Given the description of an element on the screen output the (x, y) to click on. 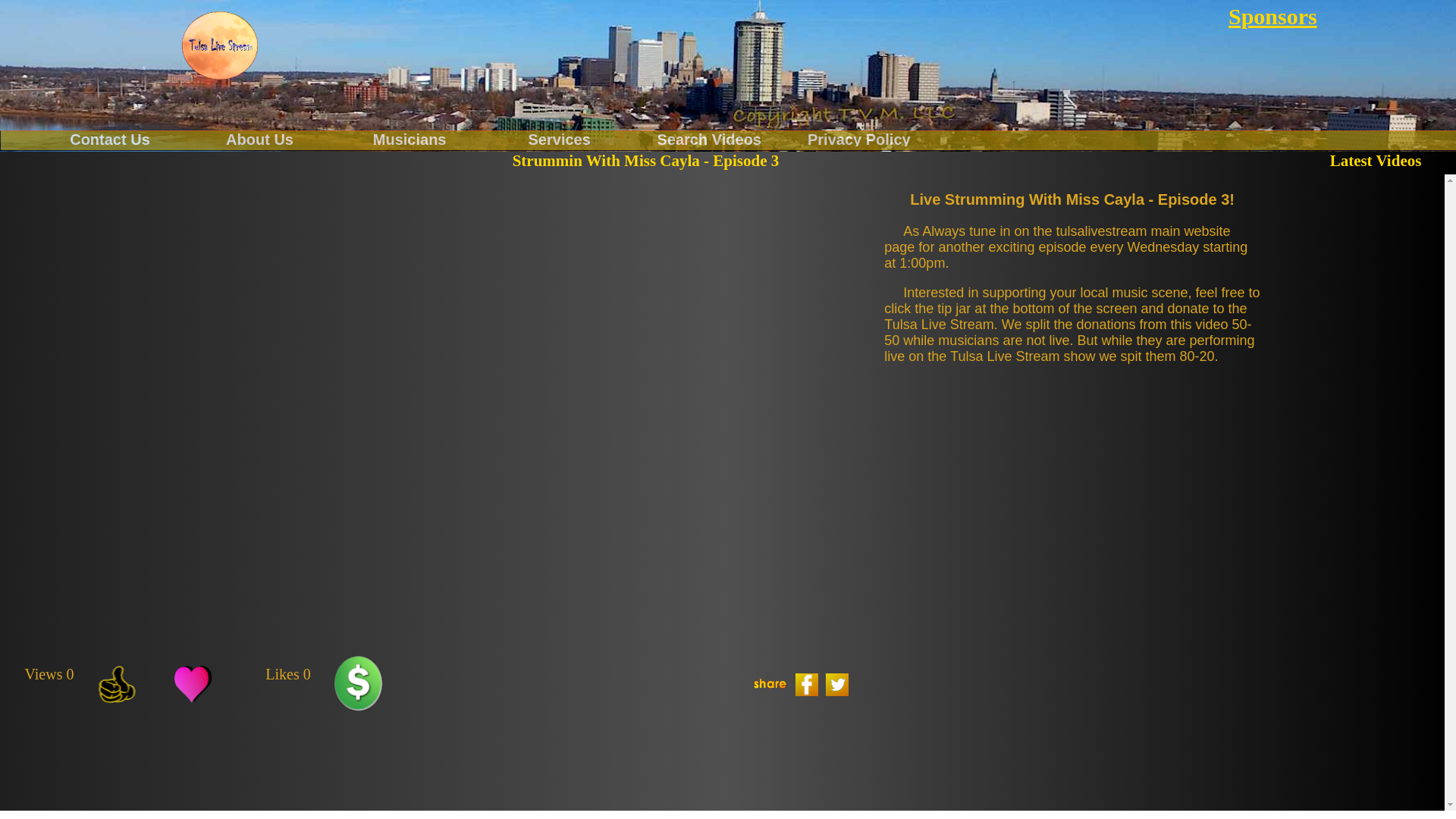
Tulsa Live Stream (219, 45)
About Us (260, 138)
Privacy Policy (858, 138)
Musicians (408, 138)
Services (558, 138)
